Given the description of an element on the screen output the (x, y) to click on. 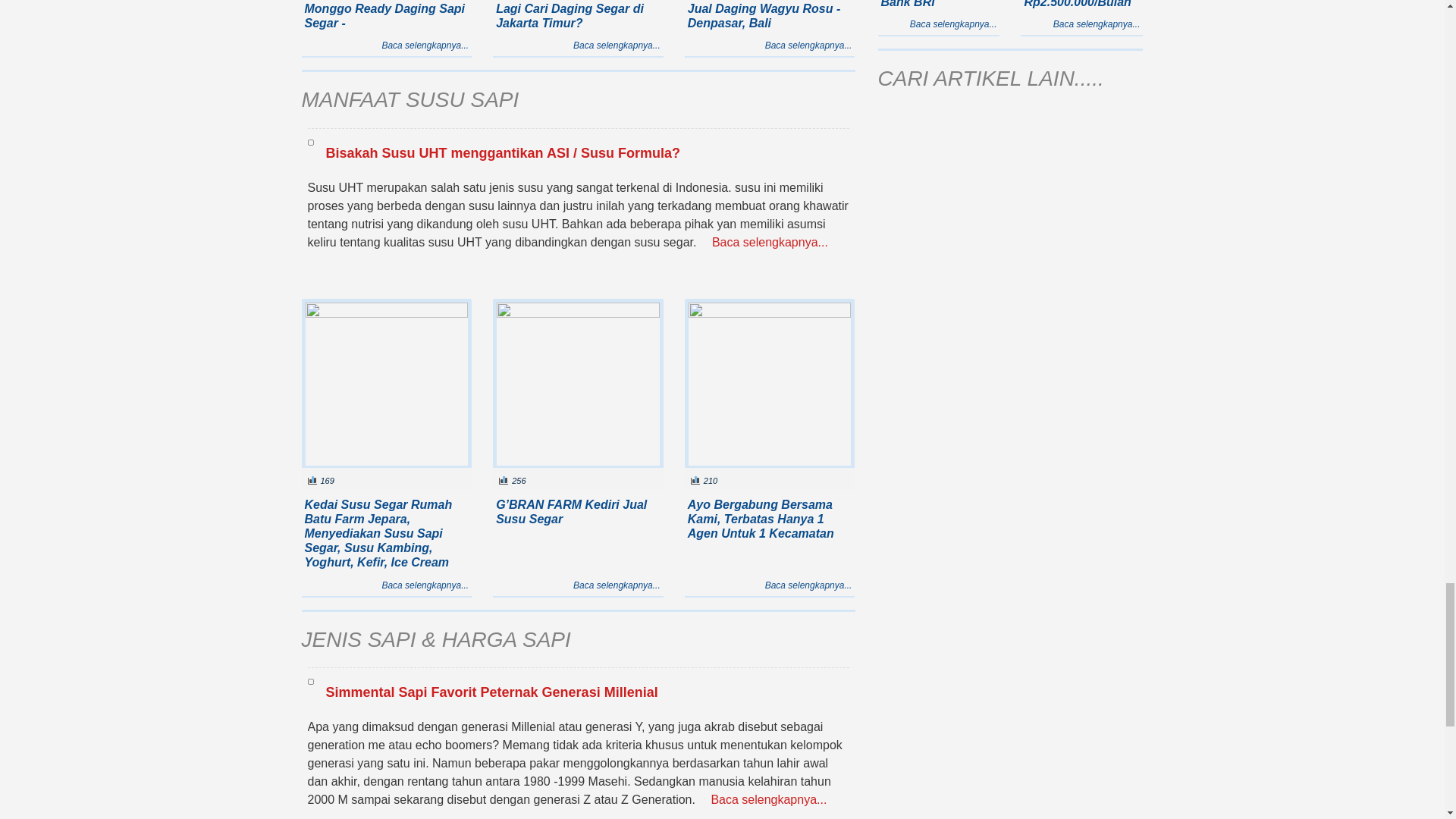
Baca selengkapnya... (616, 585)
Jual Daging Wagyu Rosu - Denpasar, Bali (764, 15)
Monggo Ready Daging Sapi Segar - (384, 15)
Baca selengkapnya... (616, 45)
Baca selengkapnya... (424, 585)
Simmental Sapi Favorit Peternak Generasi Millenial (310, 681)
Lagi Cari Daging Segar di Jakarta Timur? (569, 15)
